Given the description of an element on the screen output the (x, y) to click on. 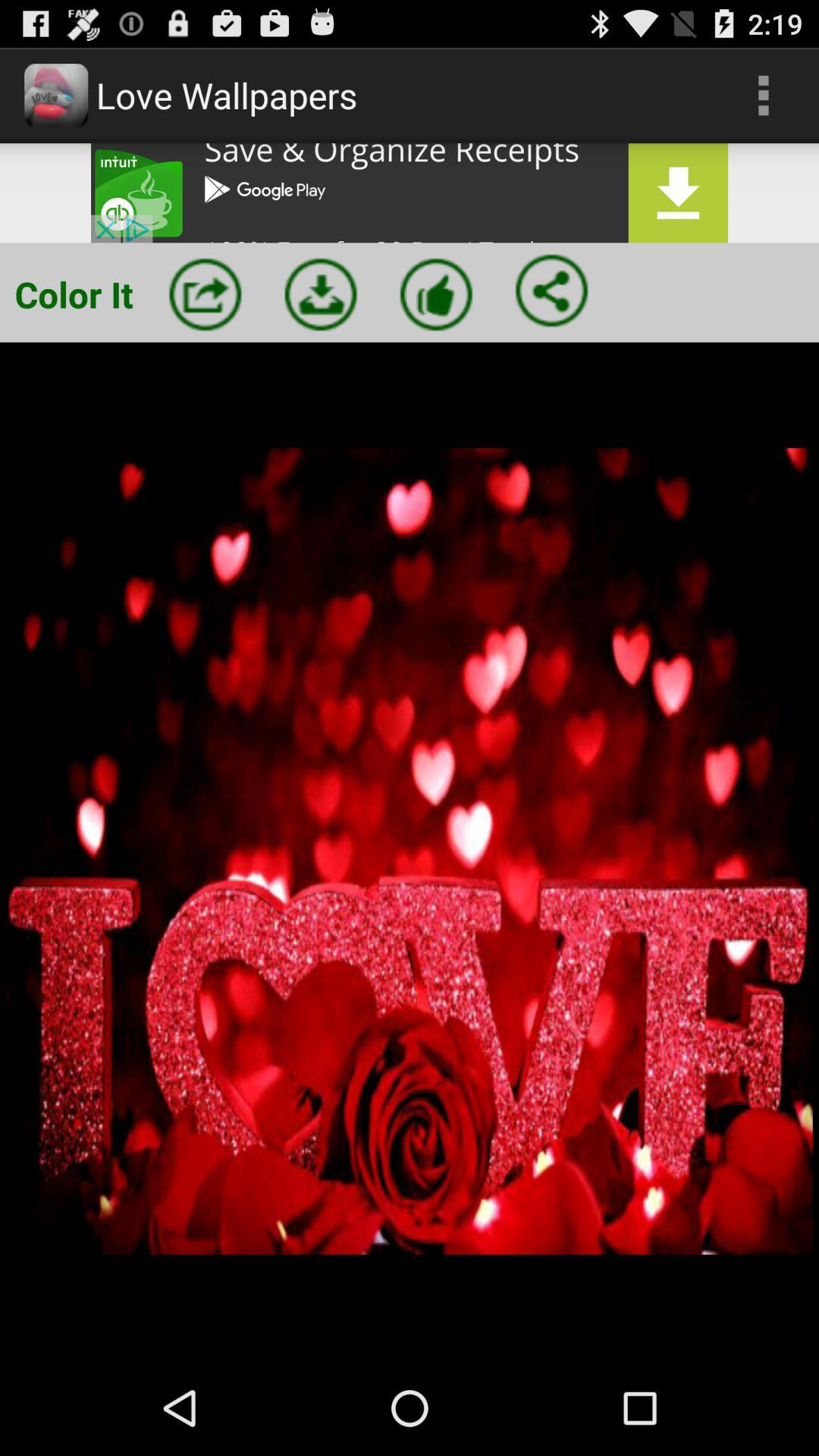
share the wallpaper (551, 290)
